Given the description of an element on the screen output the (x, y) to click on. 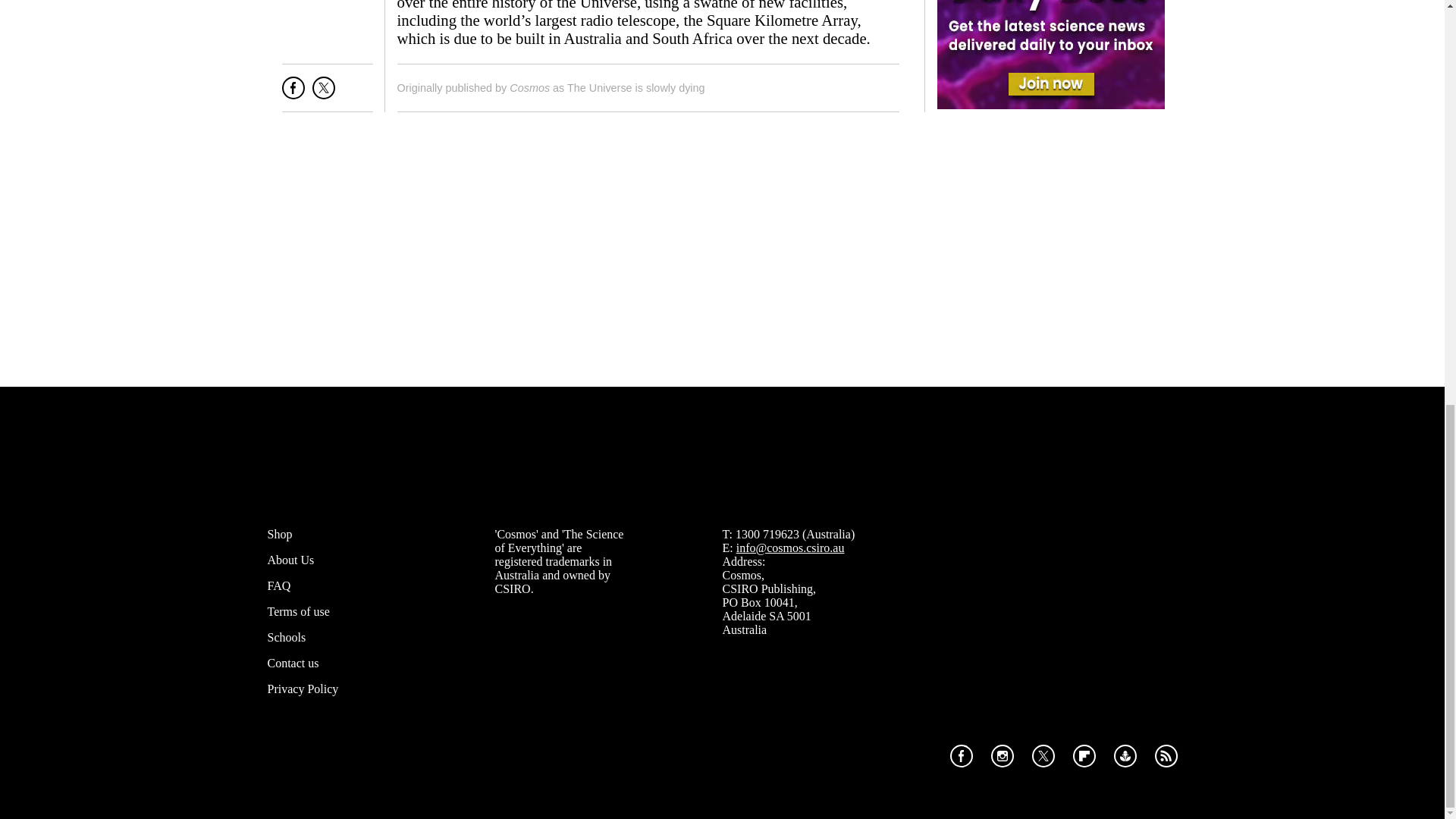
The Universe is slowly dying (635, 87)
Tweet (323, 93)
Cosmos (529, 87)
Share on Facebook (293, 93)
